Given the description of an element on the screen output the (x, y) to click on. 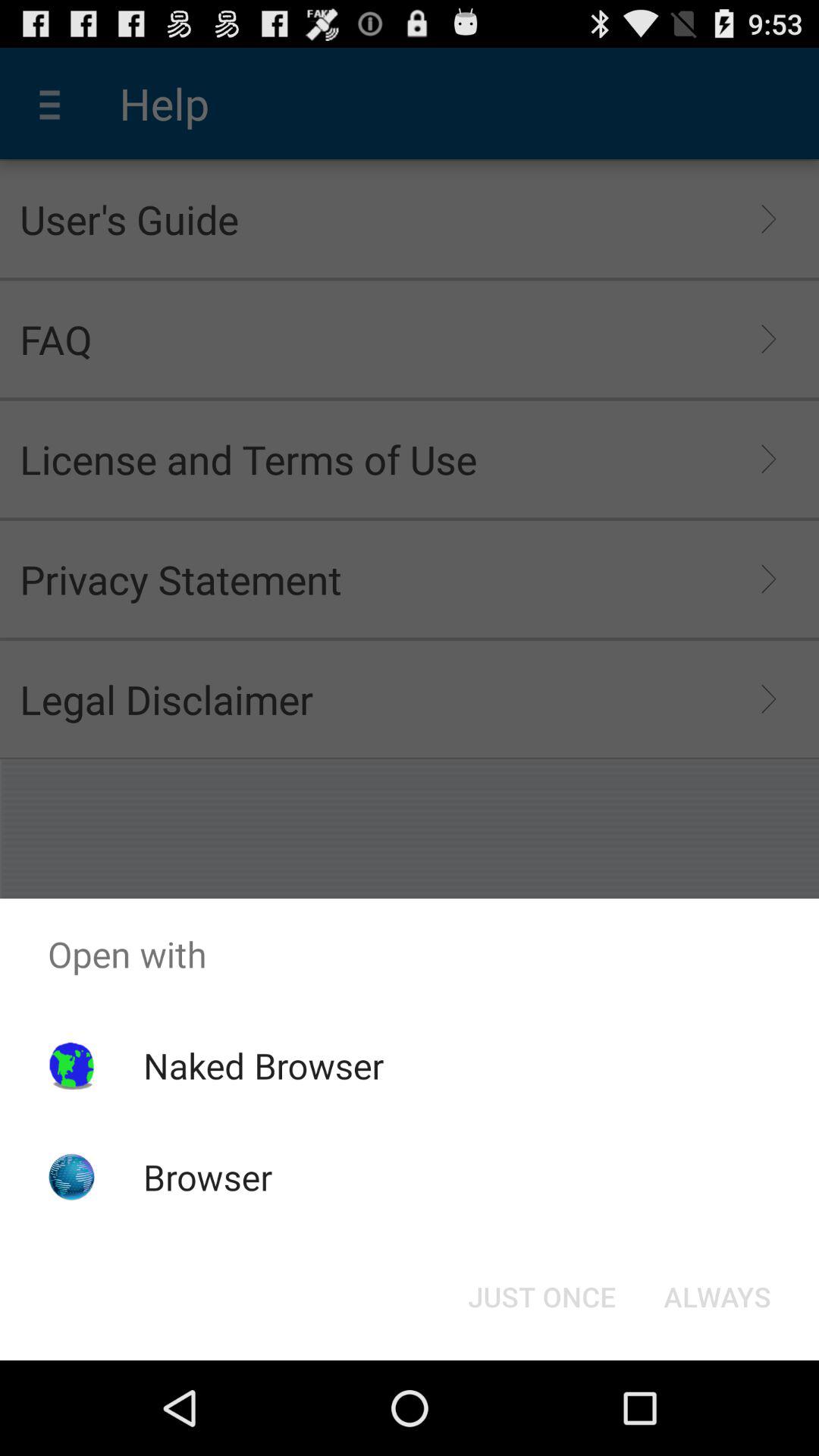
select the item to the right of just once item (717, 1296)
